Given the description of an element on the screen output the (x, y) to click on. 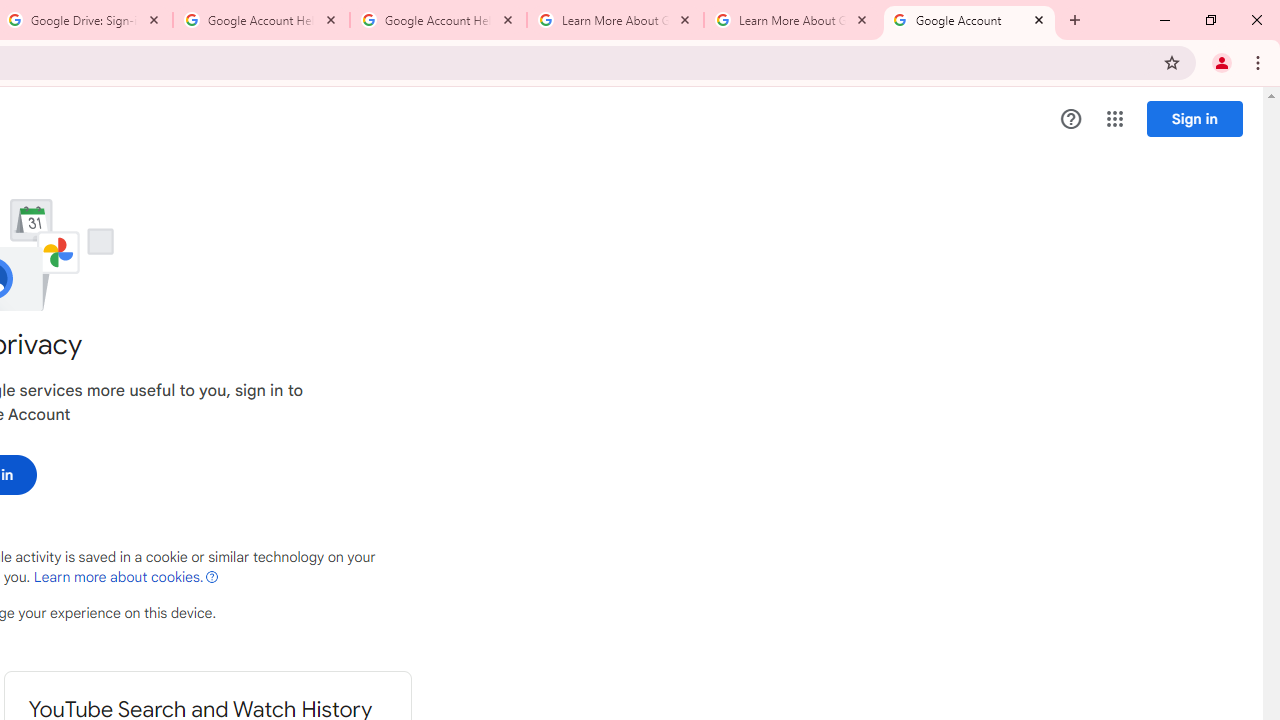
Google Account (969, 20)
Google Account Help (438, 20)
Google Account Help (260, 20)
Learn more about cookies (Opens in new tab) (126, 577)
